Given the description of an element on the screen output the (x, y) to click on. 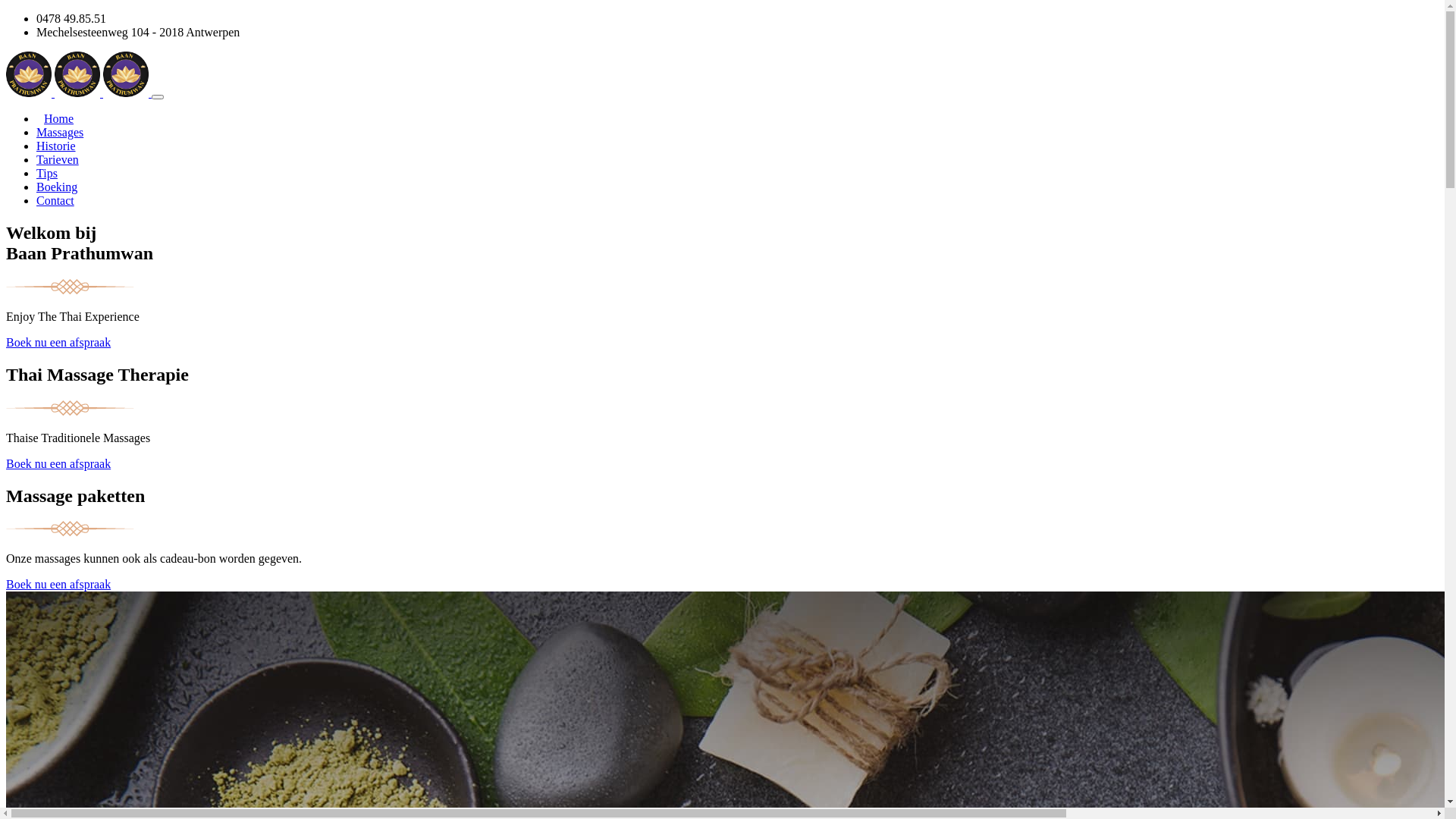
Contact Element type: text (55, 200)
Historie Element type: text (55, 145)
Home Element type: text (58, 118)
Boek nu een afspraak Element type: text (58, 583)
Tarieven Element type: text (57, 159)
Boeking Element type: text (56, 186)
Tips Element type: text (46, 172)
Massages Element type: text (59, 131)
Boek nu een afspraak Element type: text (58, 463)
Boek nu een afspraak Element type: text (58, 341)
